Given the description of an element on the screen output the (x, y) to click on. 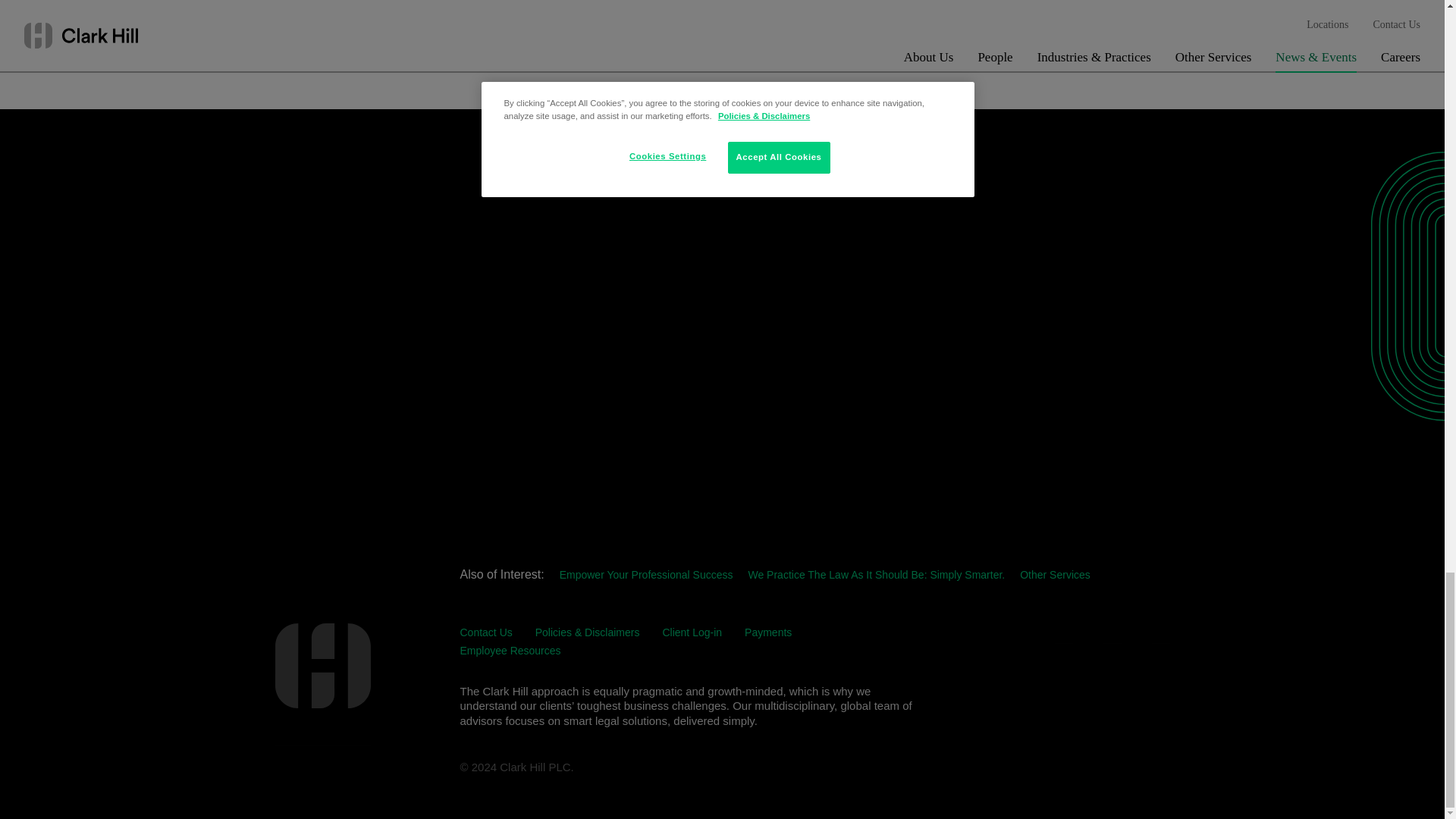
Employee Resources (510, 650)
Contact Us (486, 632)
Payments (768, 632)
We Practice The Law As It Should Be: Simply Smarter. (876, 574)
Client Log-in (692, 632)
Empower Your Professional Success (646, 574)
Other Services (1055, 574)
